Given the description of an element on the screen output the (x, y) to click on. 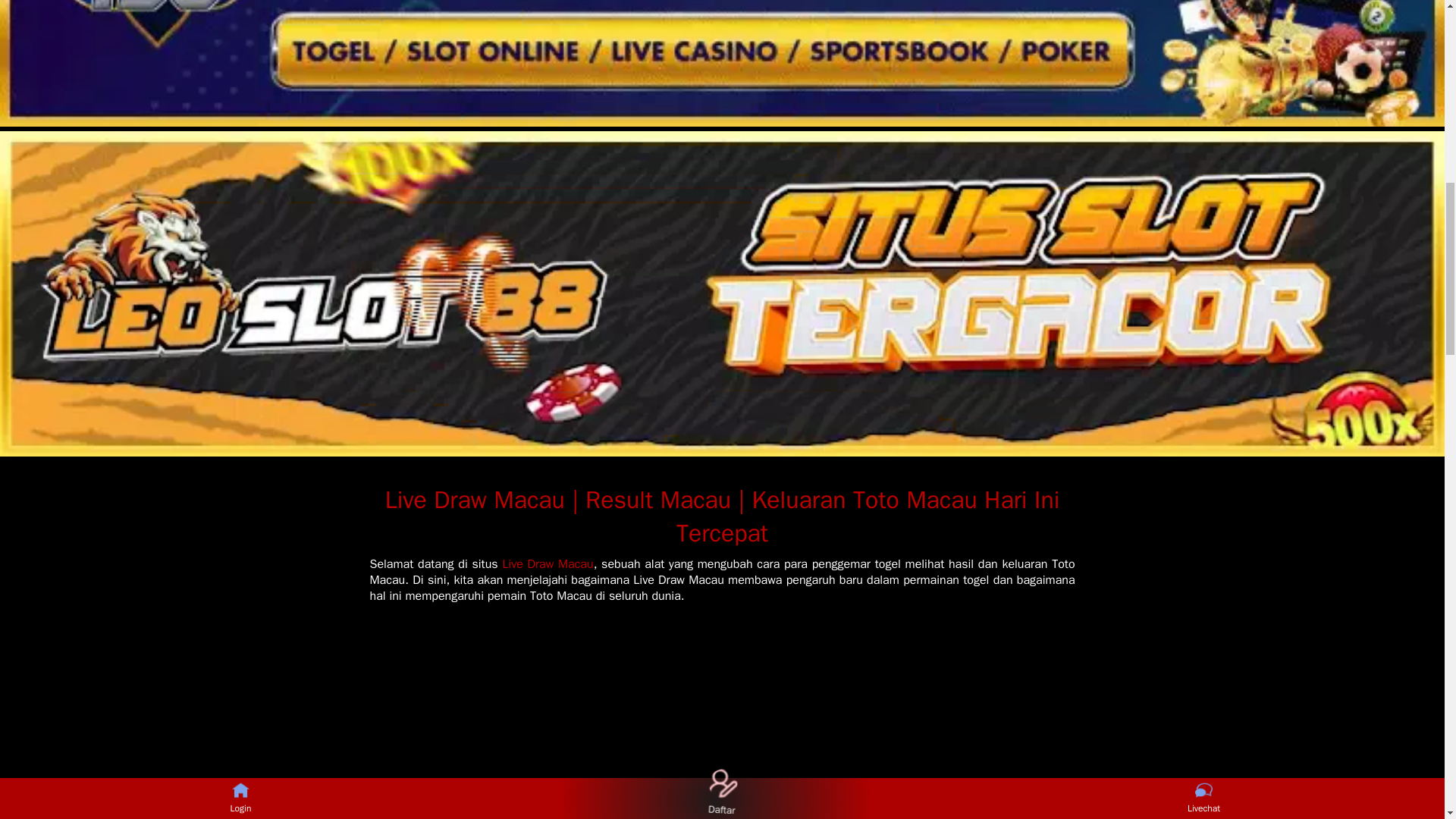
Live Draw Macau (547, 563)
